Given the description of an element on the screen output the (x, y) to click on. 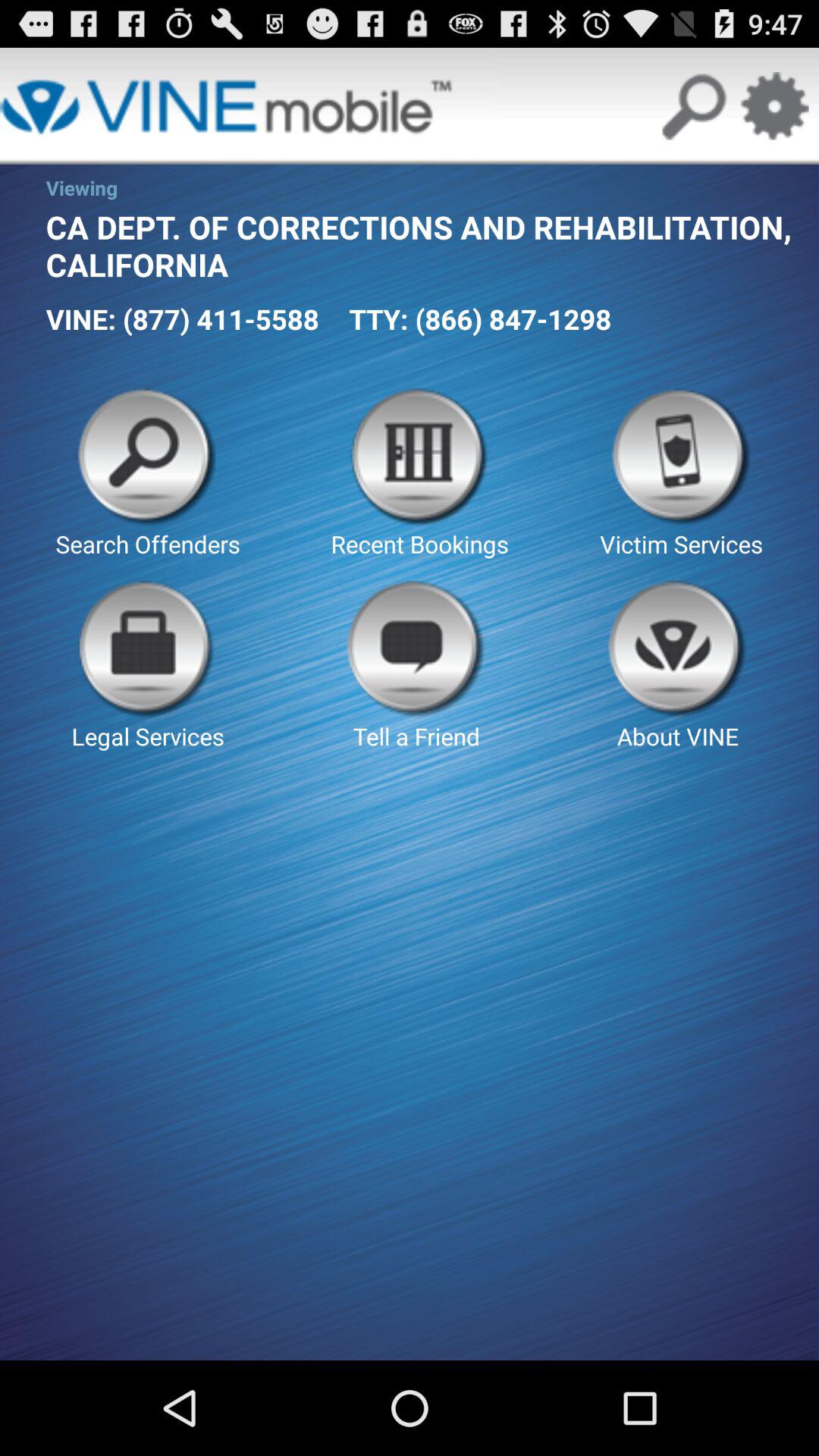
jump until the victim services (681, 474)
